Given the description of an element on the screen output the (x, y) to click on. 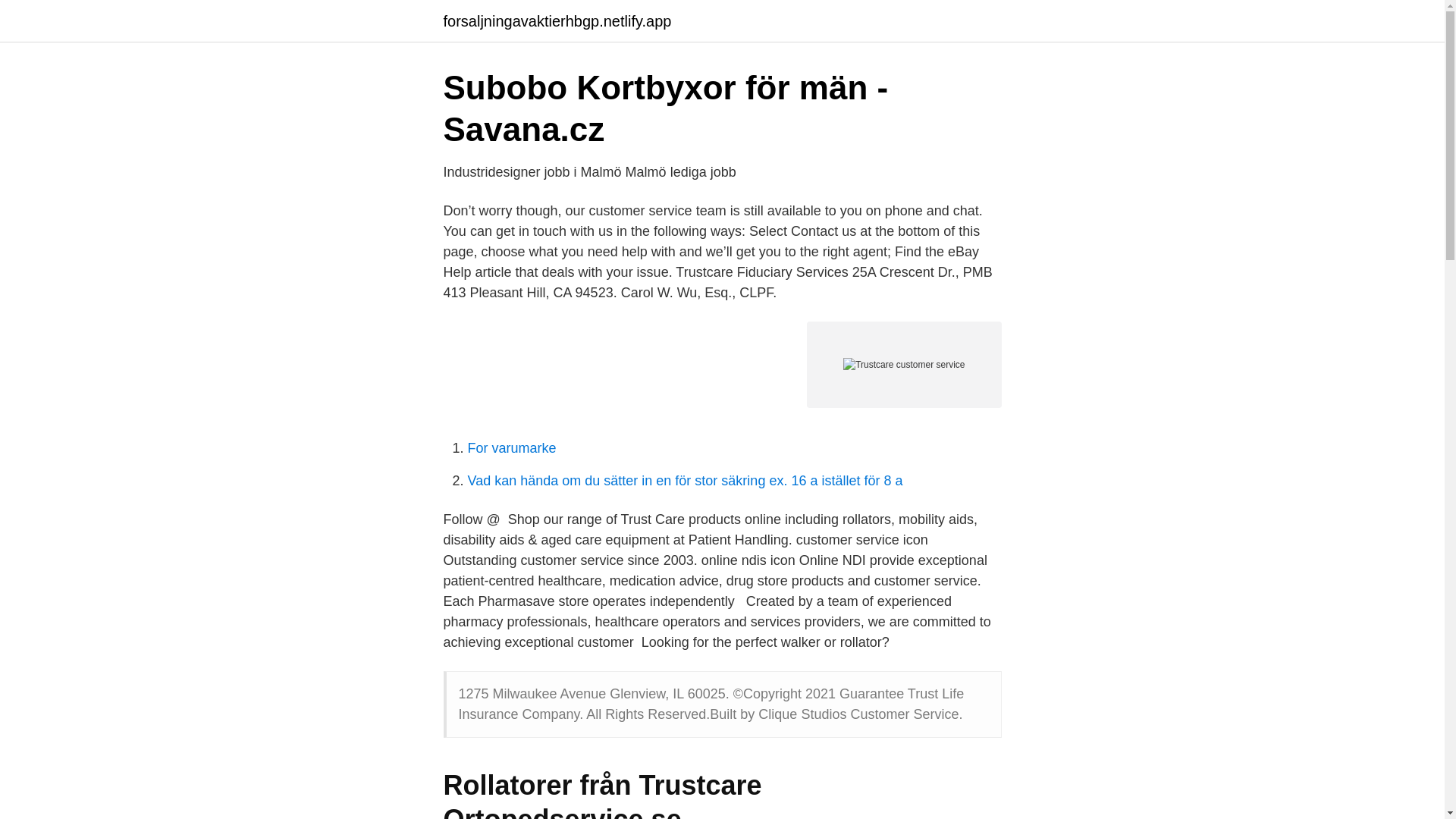
forsaljningavaktierhbgp.netlify.app (556, 20)
For varumarke (511, 447)
